Given the description of an element on the screen output the (x, y) to click on. 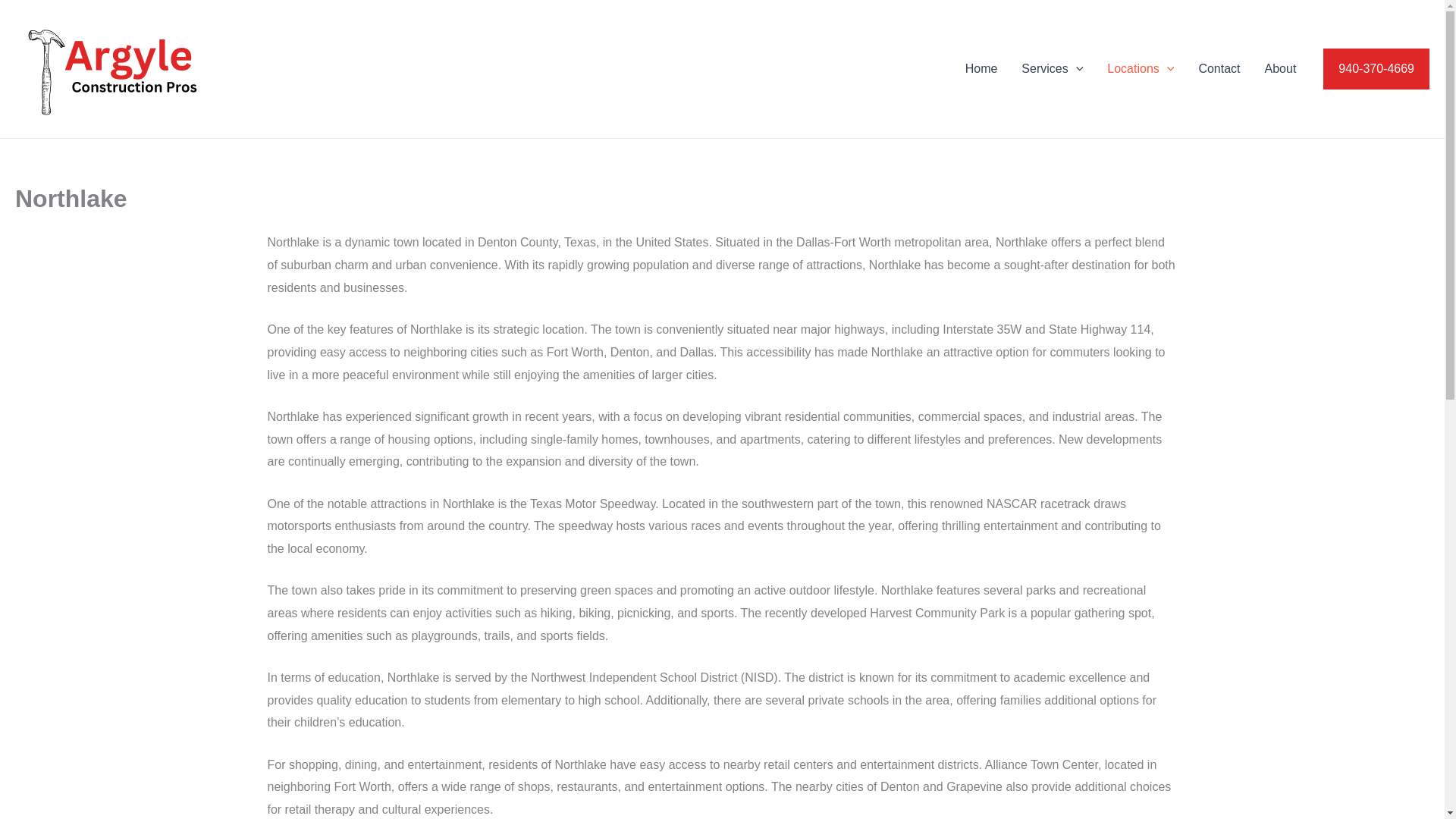
Services (1051, 68)
Contact (1219, 68)
Locations (1140, 68)
Home (981, 68)
About (1280, 68)
940-370-4669 (1376, 68)
